Given the description of an element on the screen output the (x, y) to click on. 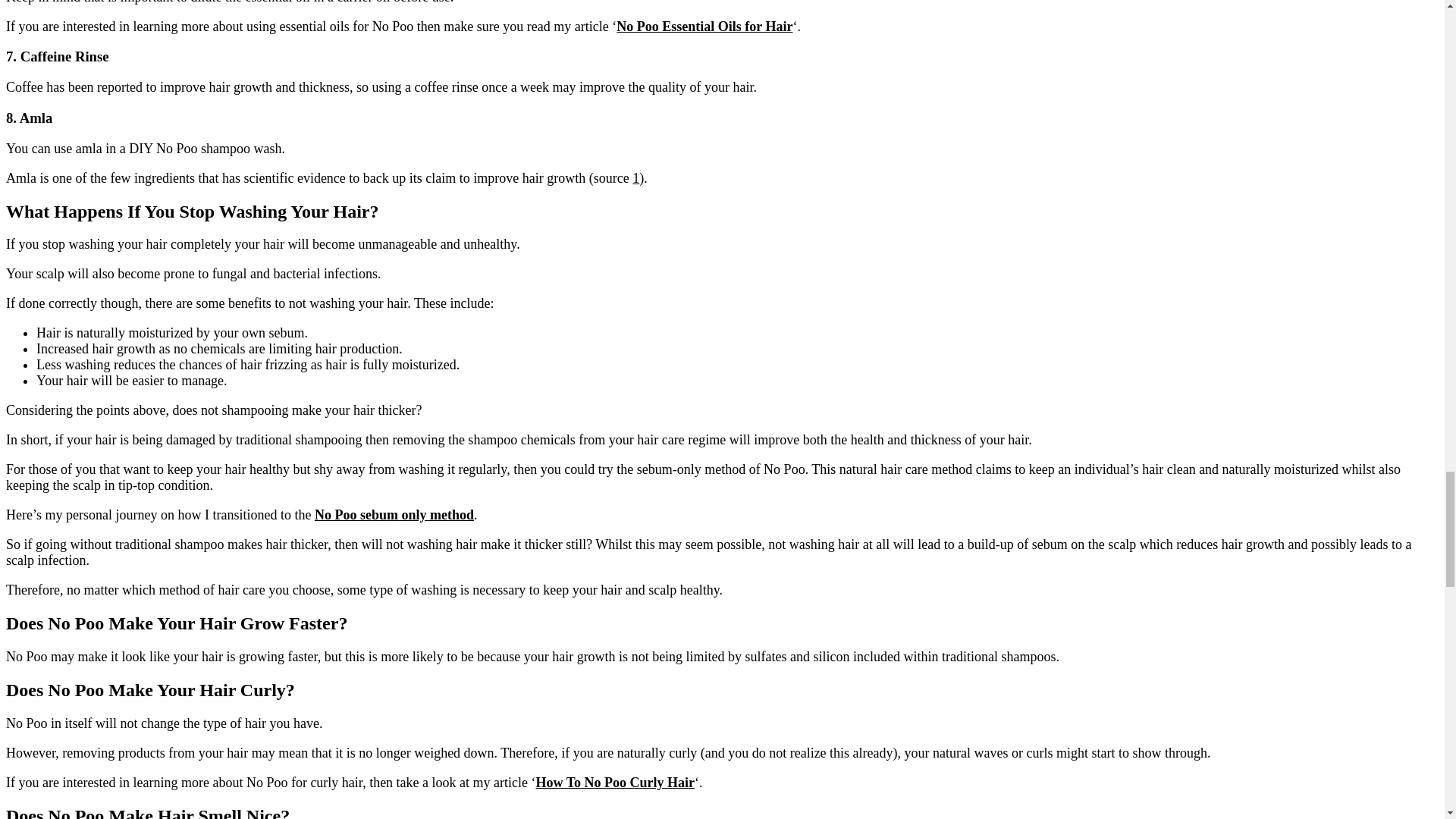
How To No Poo Curly Hair (615, 782)
No Poo Essential Oils for Hair (703, 26)
No Poo sebum only method (394, 514)
